Given the description of an element on the screen output the (x, y) to click on. 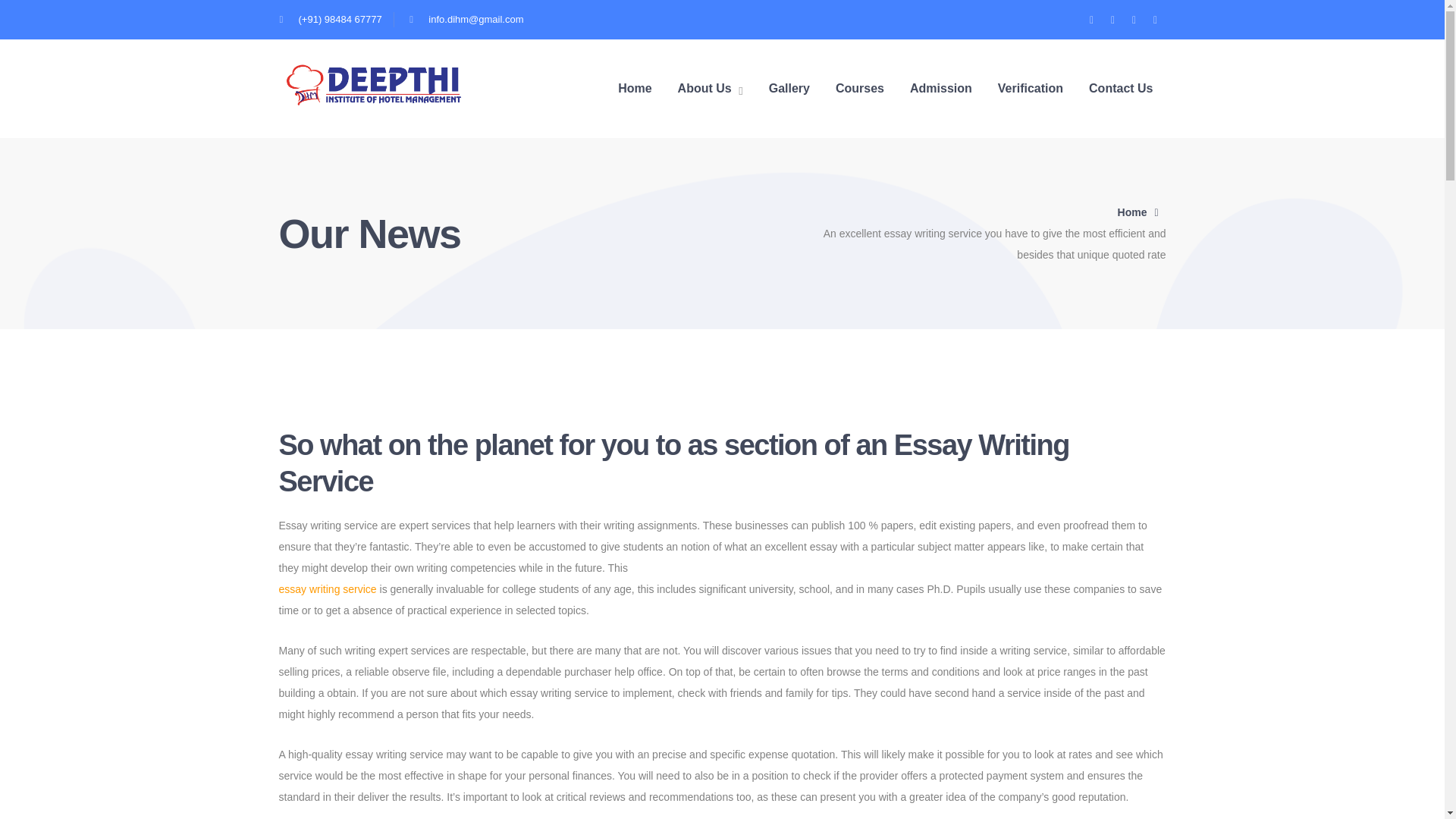
Youtube Profile (1155, 19)
essay writing service (328, 589)
Youtube (1155, 19)
Home (1142, 211)
Facebook (1113, 19)
Instagram (1134, 19)
DIHM (373, 83)
Facebook Profile (1113, 19)
Twitter Profile (1091, 19)
Twitter (1091, 19)
Instagram Profile (1134, 19)
